Given the description of an element on the screen output the (x, y) to click on. 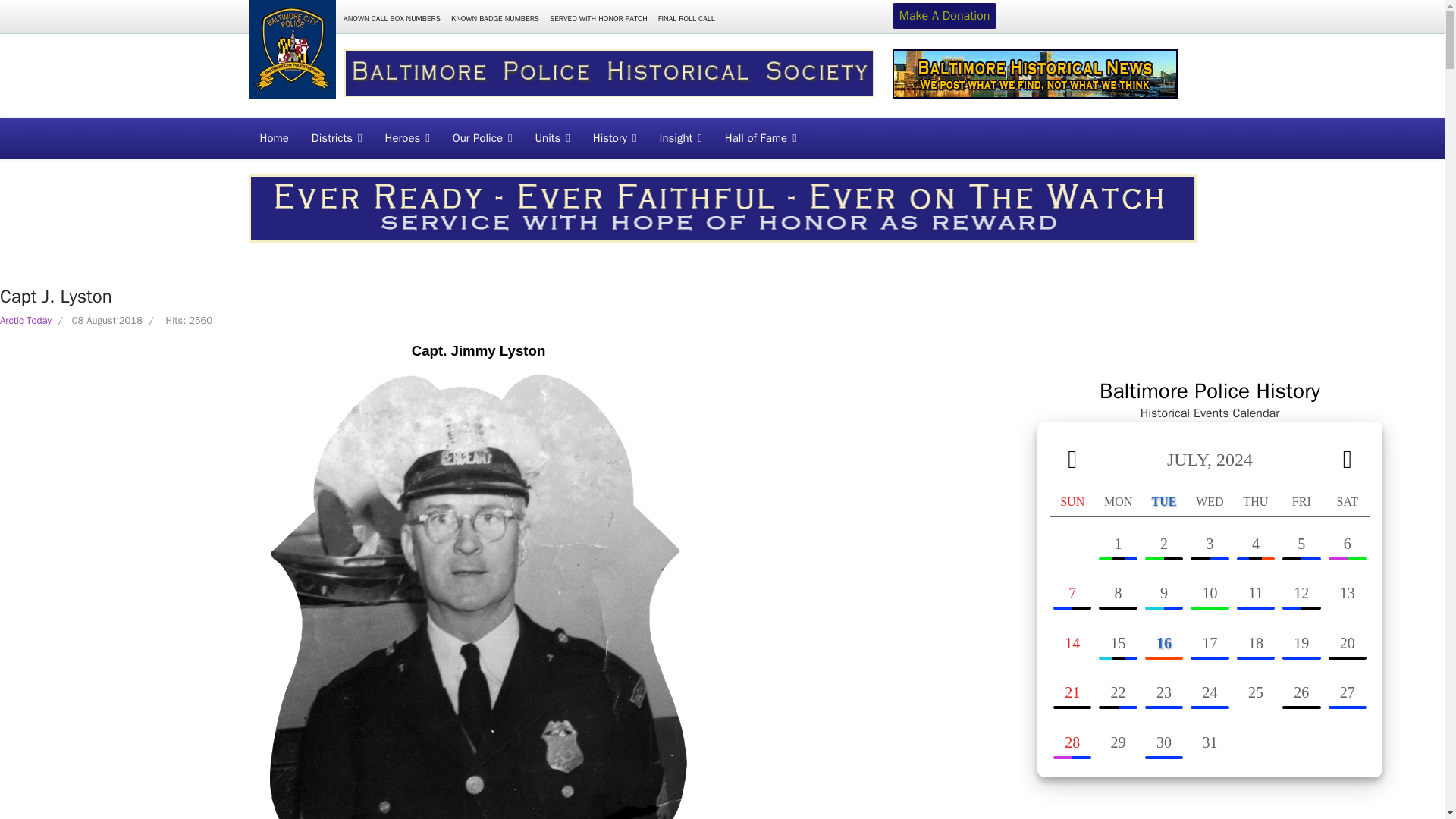
FINAL ROLL CALL (686, 18)
Make A Donation (944, 15)
KNOWN BADGE NUMBERS (494, 18)
KNOWN CALL BOX NUMBERS (391, 18)
Banner2 (1034, 73)
SERVED WITH HONOR PATCH (598, 18)
Home (273, 137)
Districts (336, 137)
Banner 5 (722, 208)
Banner1 (609, 73)
